Given the description of an element on the screen output the (x, y) to click on. 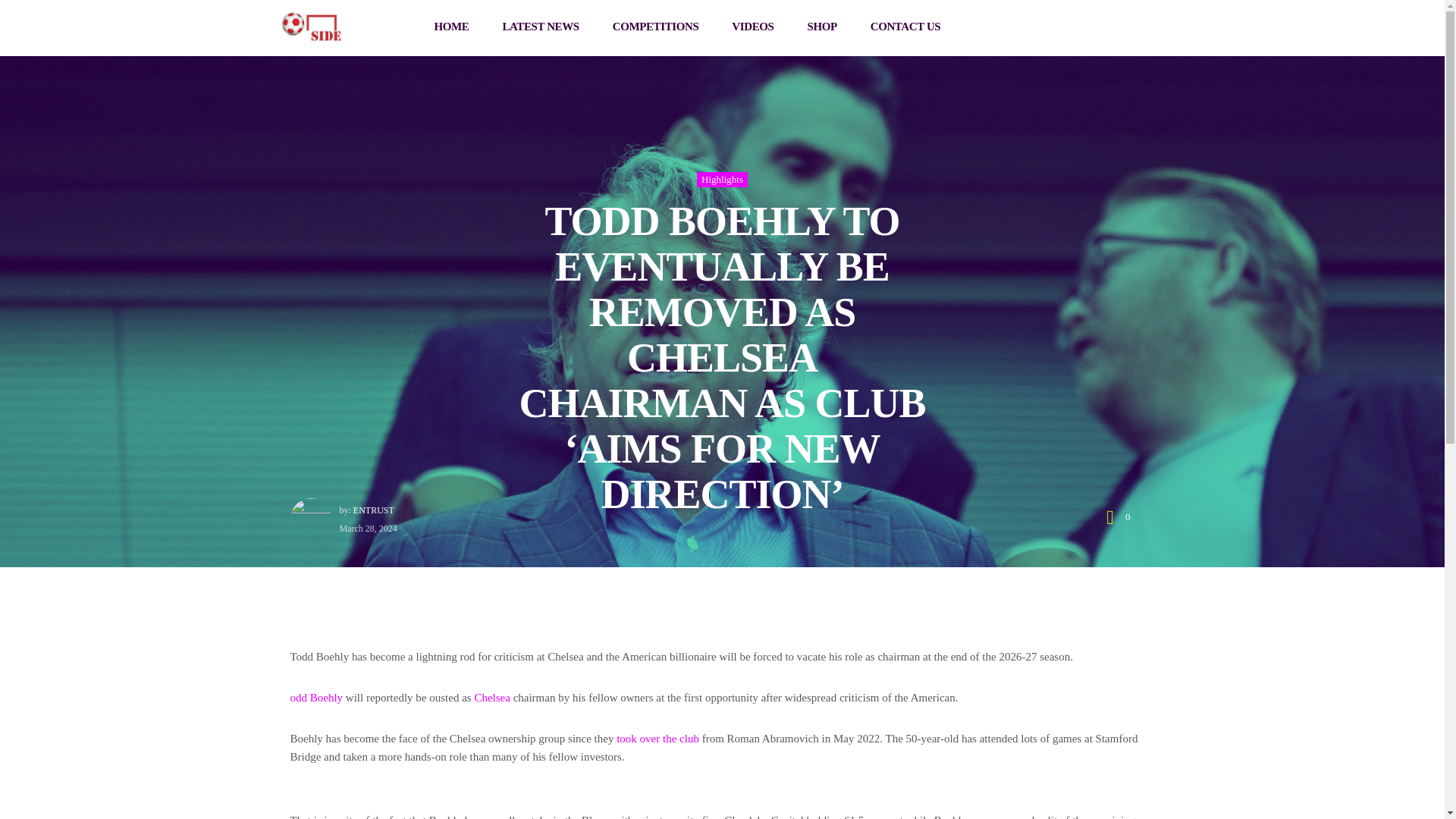
HOME (451, 27)
VIDEOS (752, 27)
CONTACT US (905, 27)
odd Boehly (315, 697)
Home (310, 24)
SHOP (821, 27)
Chelsea (491, 697)
LATEST NEWS (539, 27)
COMPETITIONS (655, 27)
took over the club (656, 738)
